Given the description of an element on the screen output the (x, y) to click on. 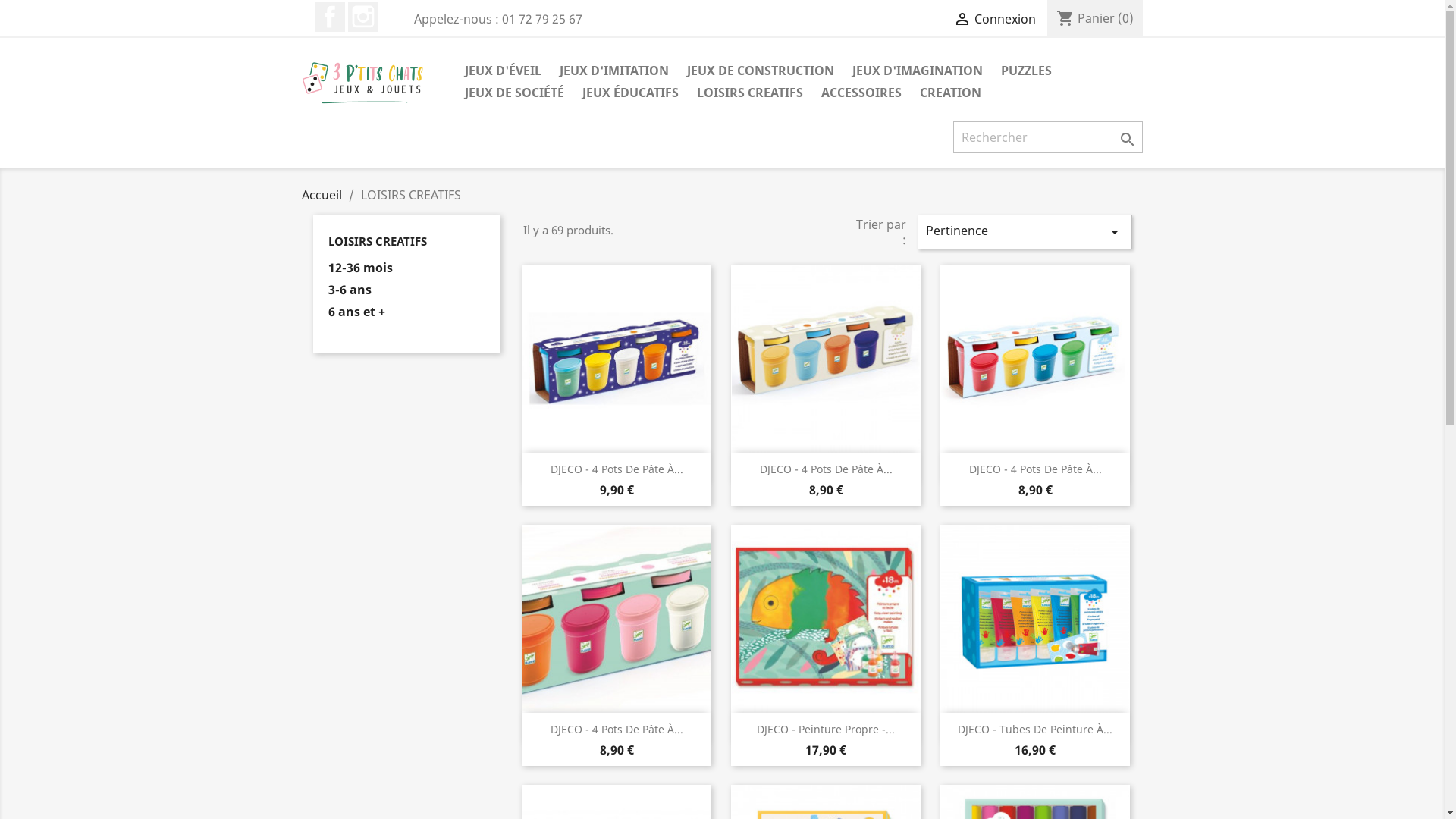
JEUX DE CONSTRUCTION Element type: text (760, 71)
Instagram Element type: text (362, 16)
Accueil Element type: text (321, 194)
LOISIRS CREATIFS Element type: text (376, 240)
3-6 ans Element type: text (406, 291)
CREATION Element type: text (949, 93)
ACCESSOIRES Element type: text (860, 93)
DJECO - Peinture Propre -... Element type: text (825, 728)
6 ans et + Element type: text (406, 313)
LOISIRS CREATIFS Element type: text (748, 93)
PUZZLES Element type: text (1026, 71)
Facebook Element type: text (328, 16)
JEUX D'IMAGINATION Element type: text (917, 71)
JEUX D'IMITATION Element type: text (614, 71)
12-36 mois Element type: text (406, 269)
